Given the description of an element on the screen output the (x, y) to click on. 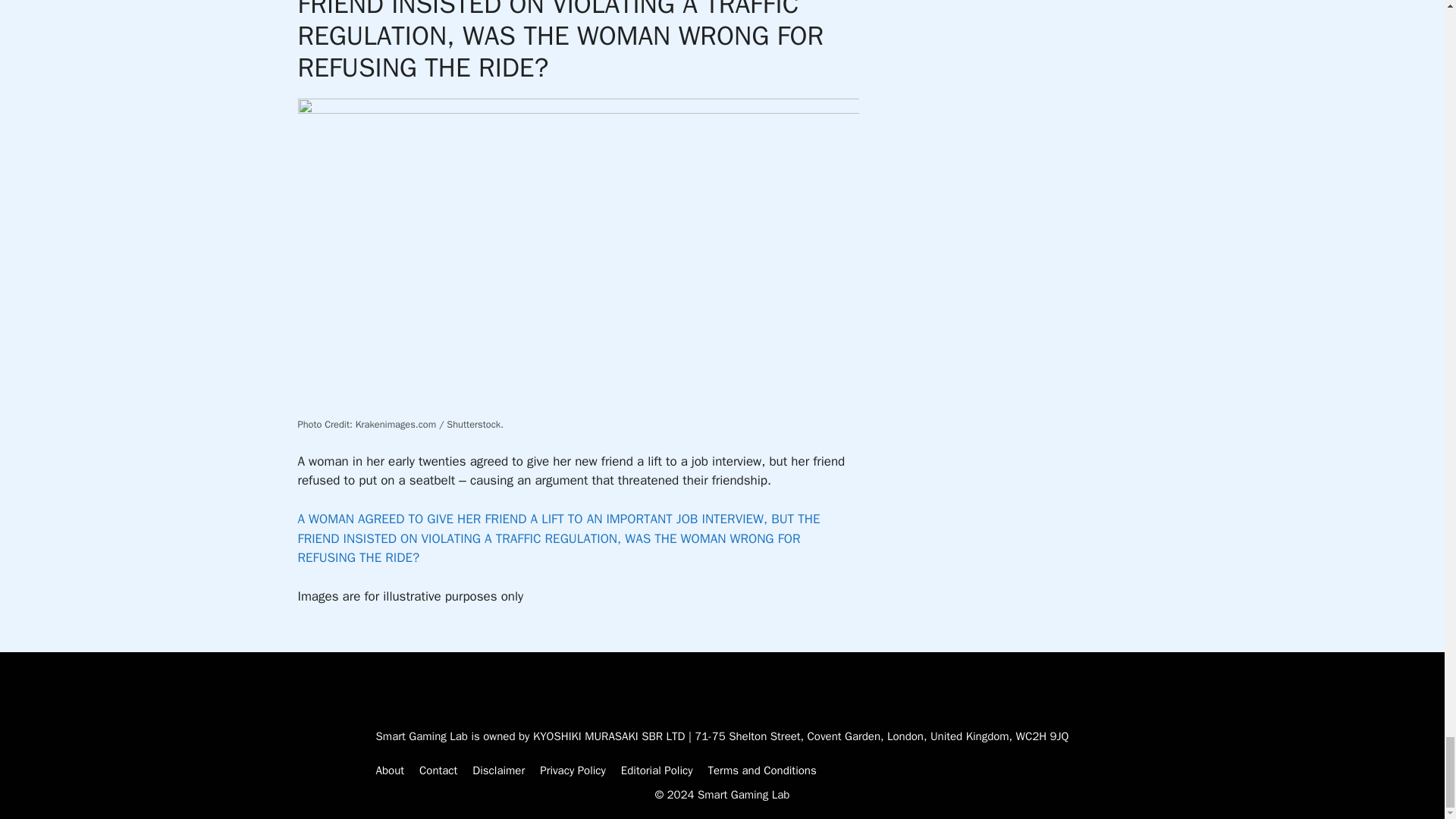
Terms and Conditions (761, 770)
Privacy Policy (572, 770)
Disclaimer (497, 770)
Contact (438, 770)
Editorial Policy (657, 770)
About (389, 770)
